Given the description of an element on the screen output the (x, y) to click on. 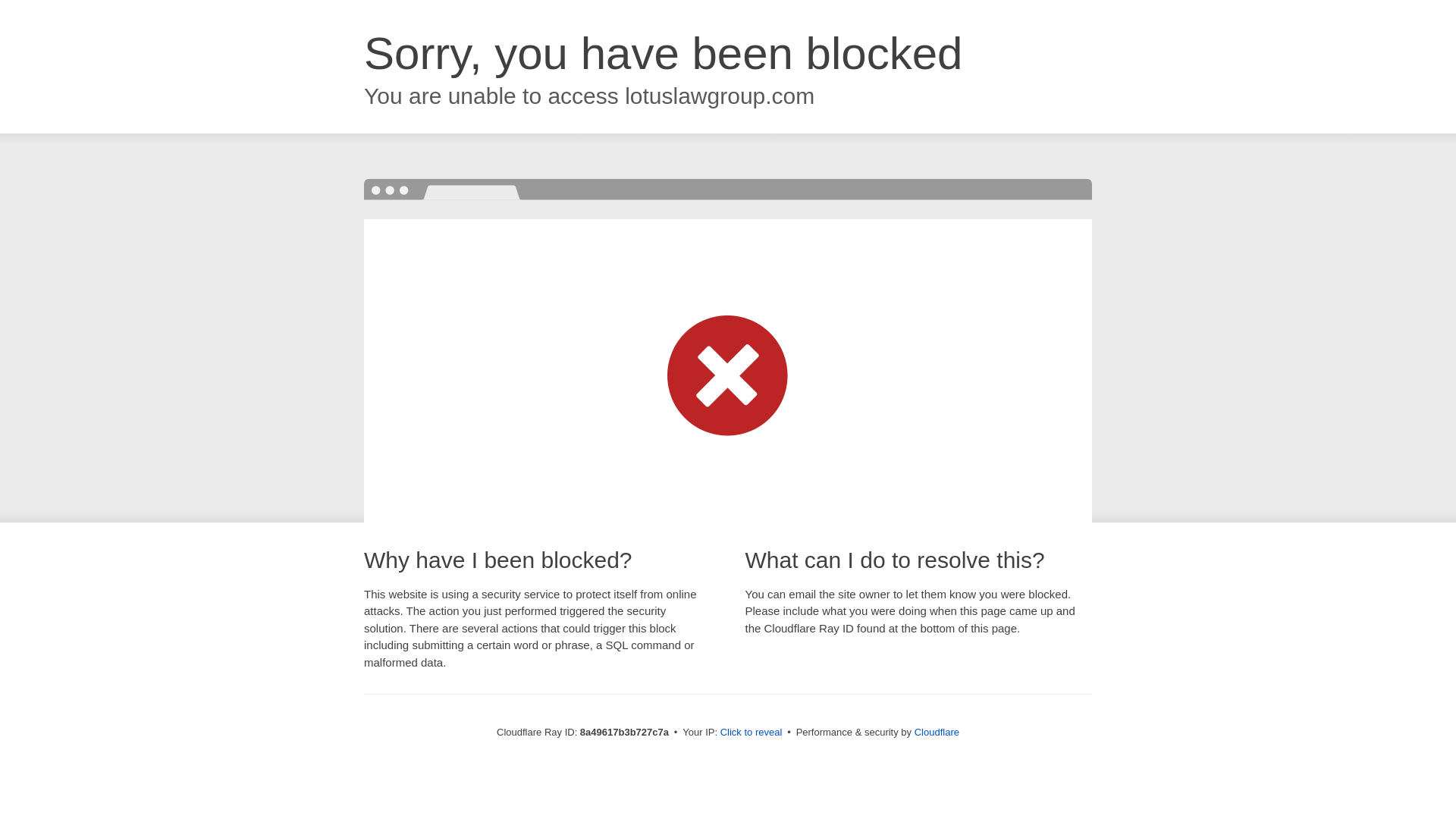
Cloudflare (936, 731)
Click to reveal (751, 732)
